Given the description of an element on the screen output the (x, y) to click on. 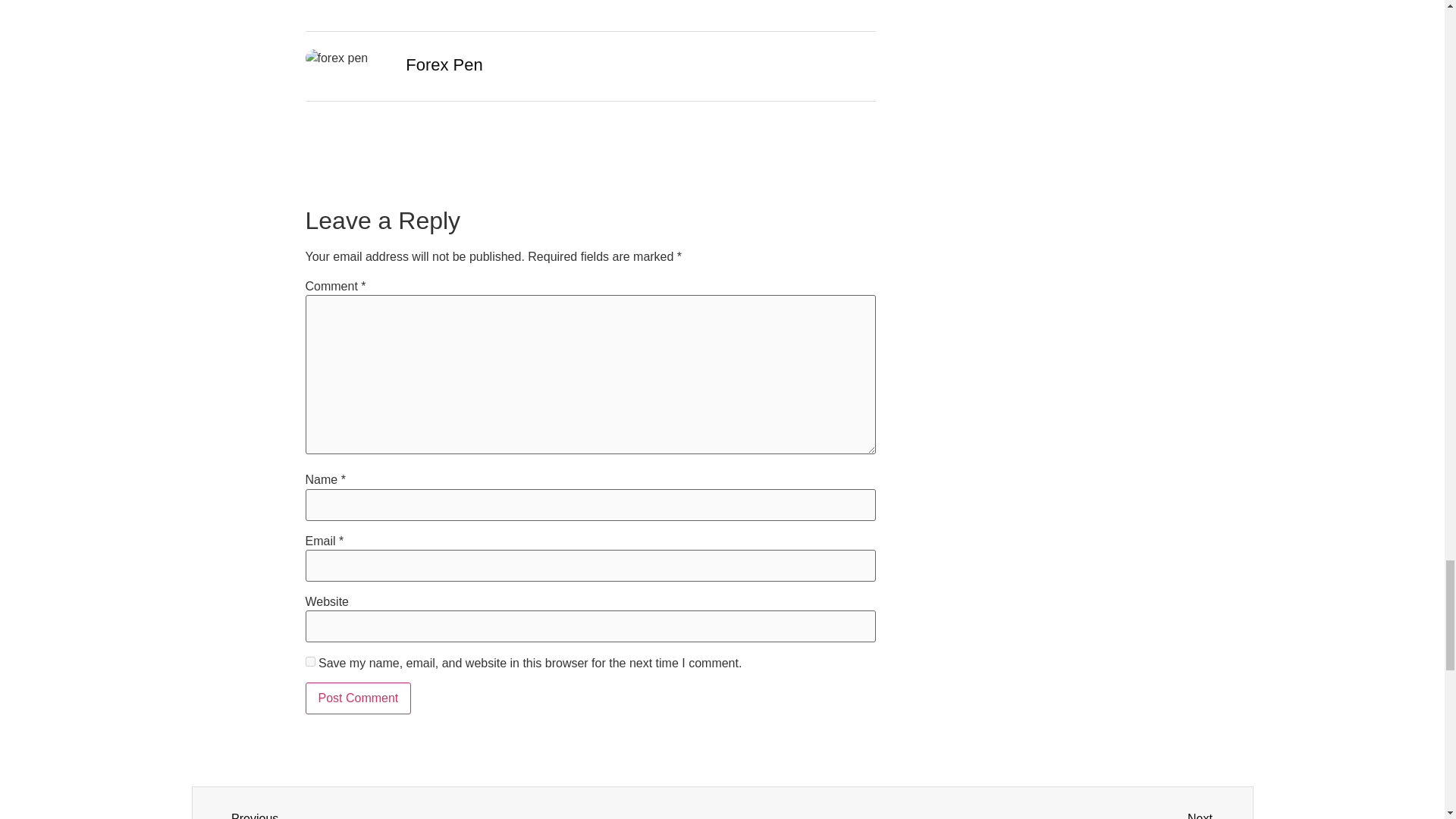
Post Comment (357, 698)
Post Comment (357, 698)
yes (468, 814)
